Given the description of an element on the screen output the (x, y) to click on. 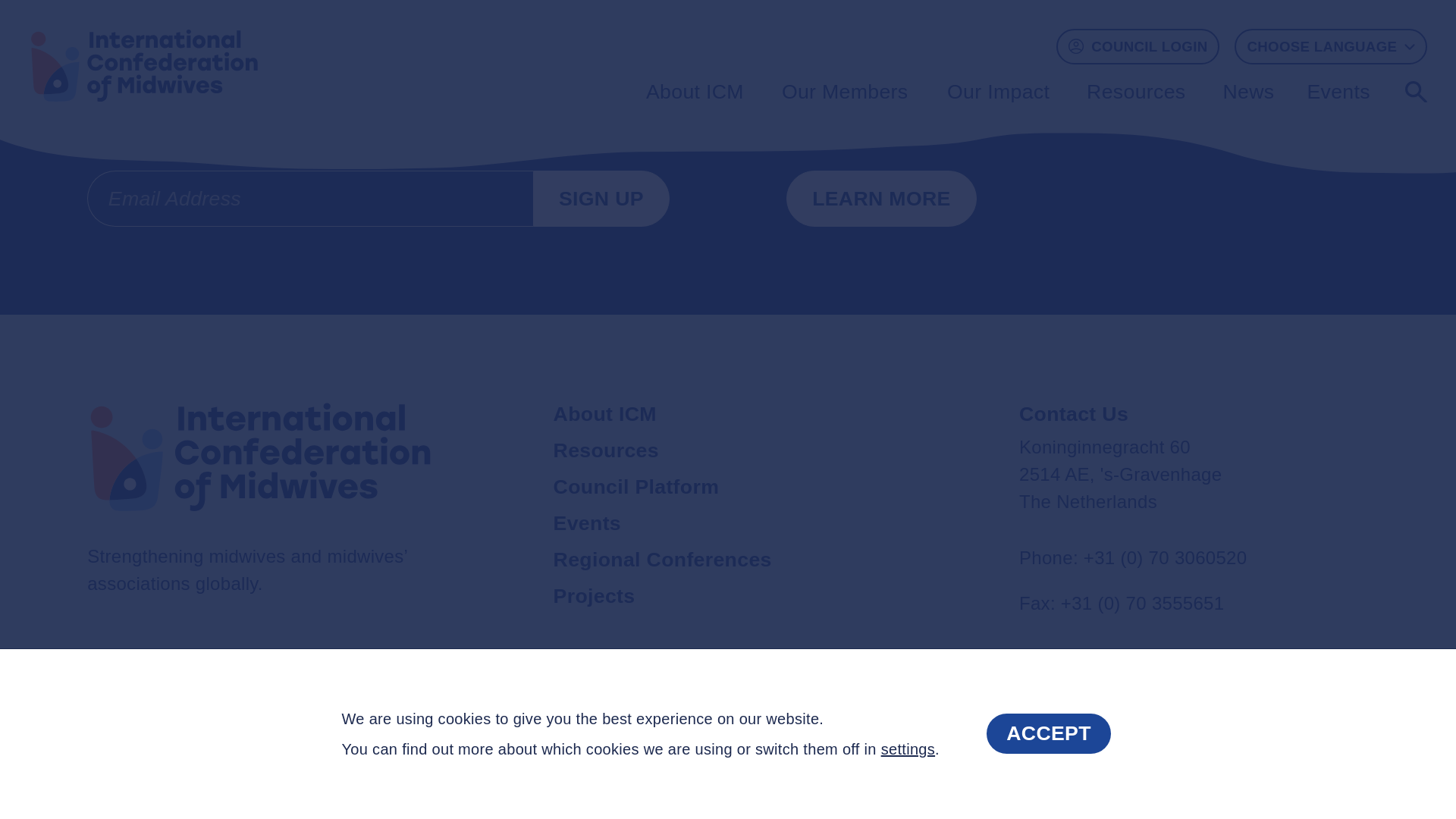
youtube (1227, 709)
instagram (1179, 709)
twitter (1085, 709)
facebook (1037, 709)
linkedin (1133, 709)
